Given the description of an element on the screen output the (x, y) to click on. 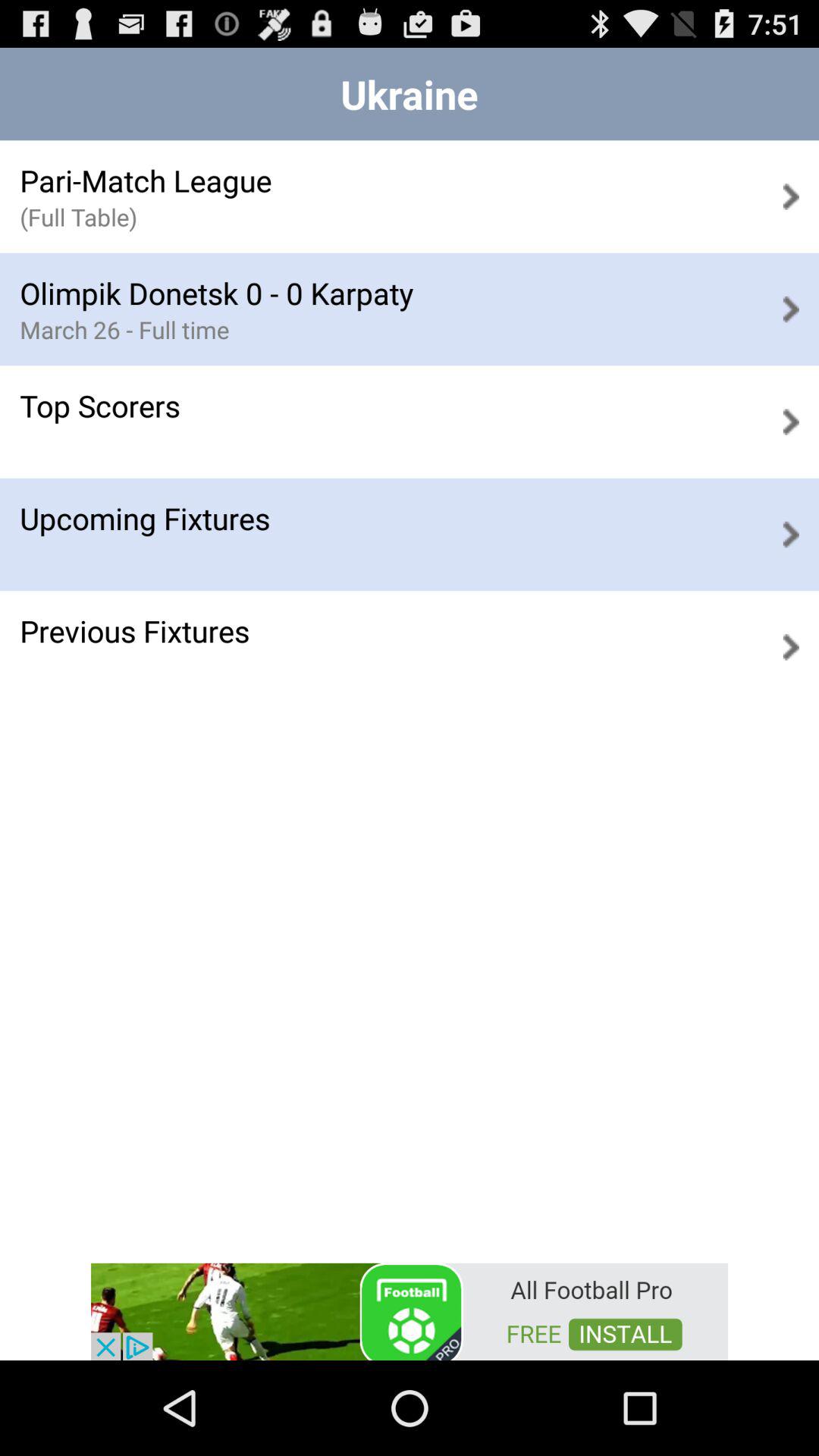
go to app (409, 1310)
